Given the description of an element on the screen output the (x, y) to click on. 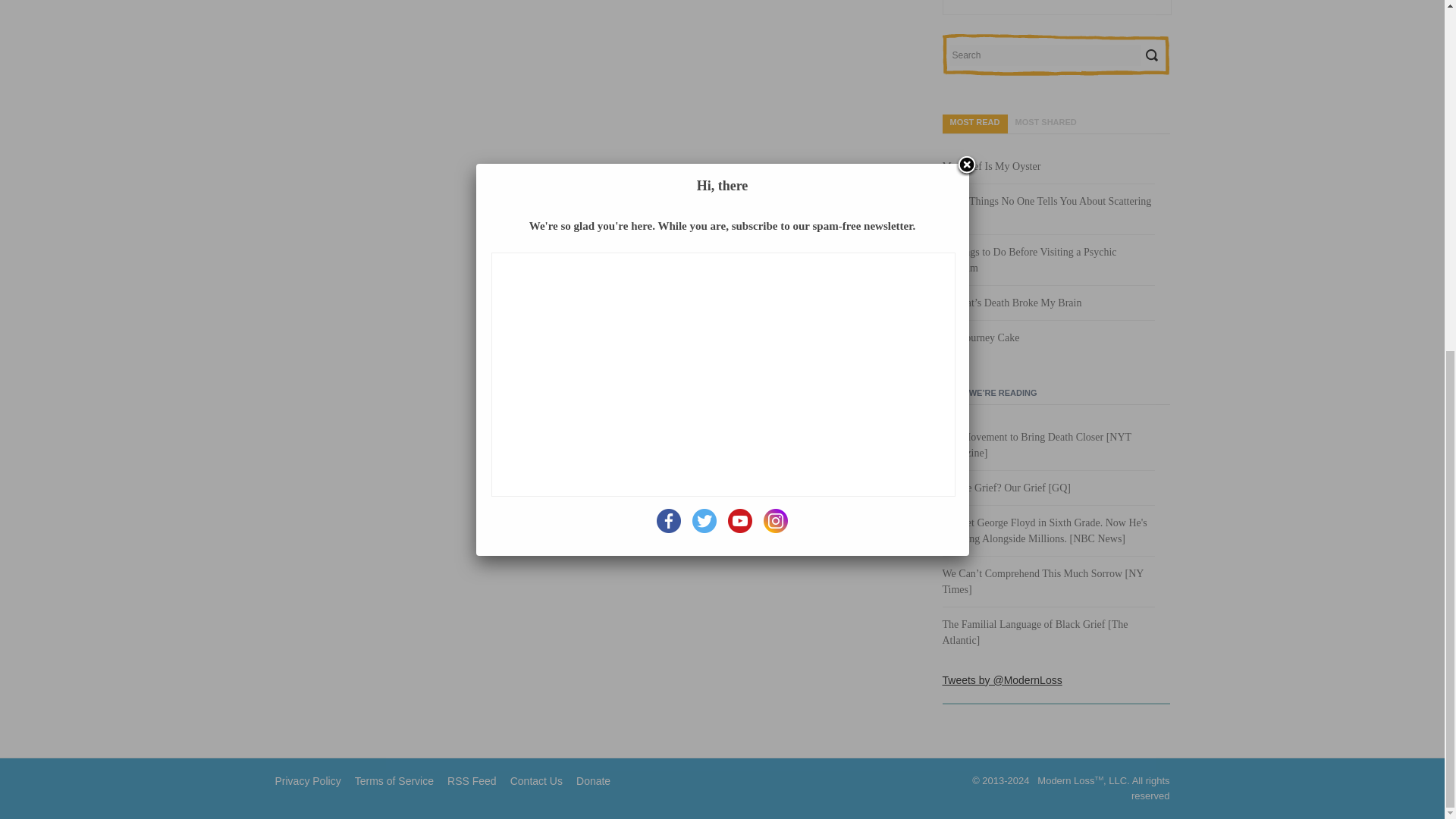
donate (593, 780)
Search (1150, 55)
contact (536, 780)
